Given the description of an element on the screen output the (x, y) to click on. 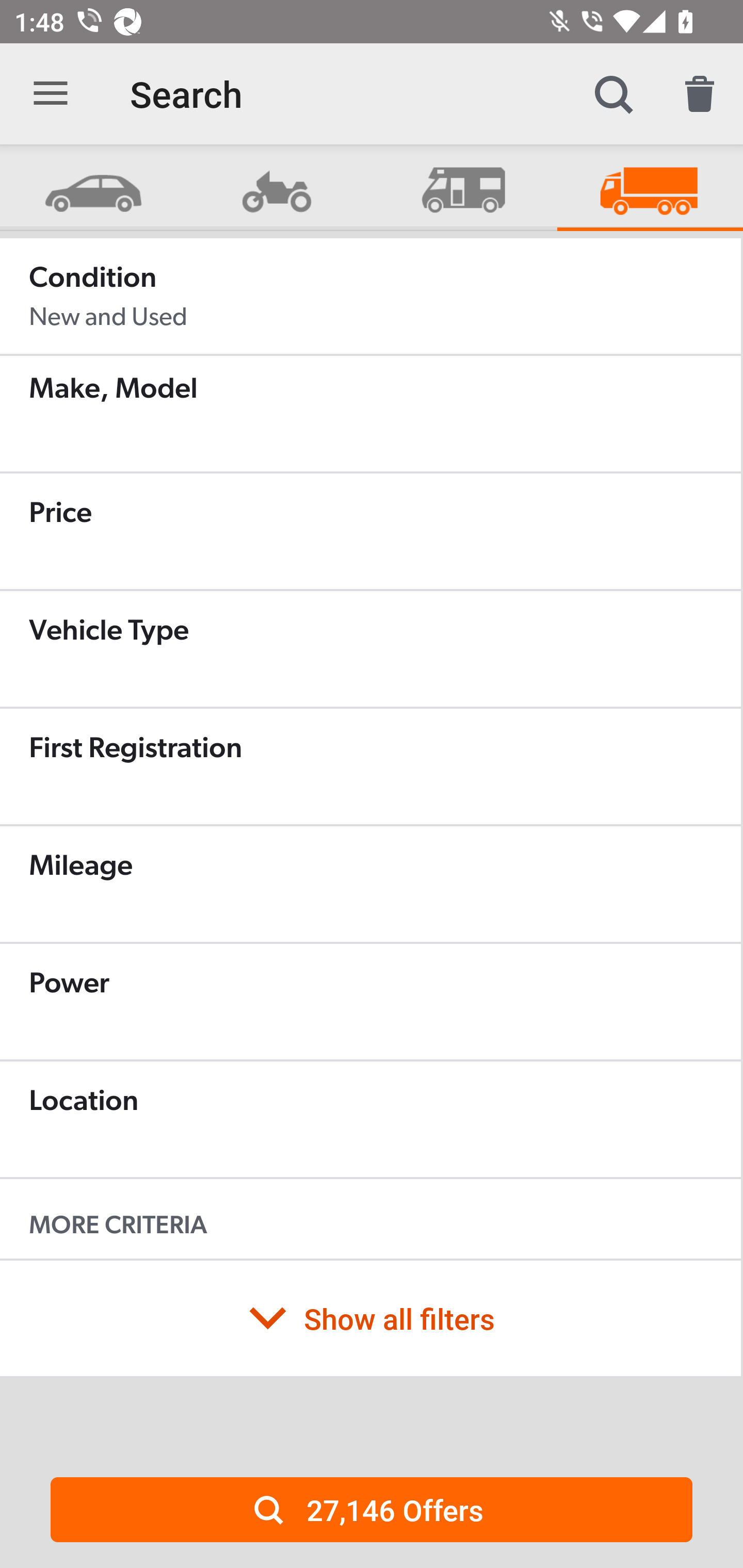
Open navigation bar (50, 93)
Search (612, 93)
Reset search (699, 93)
Condition New and Used (370, 296)
Make, Model (370, 413)
Price (370, 531)
Vehicle Type (370, 649)
First Registration (370, 766)
Mileage (370, 884)
Power (370, 1001)
Location (370, 1119)
Show all filters (370, 1318)
27,146 Offers (371, 1509)
